Given the description of an element on the screen output the (x, y) to click on. 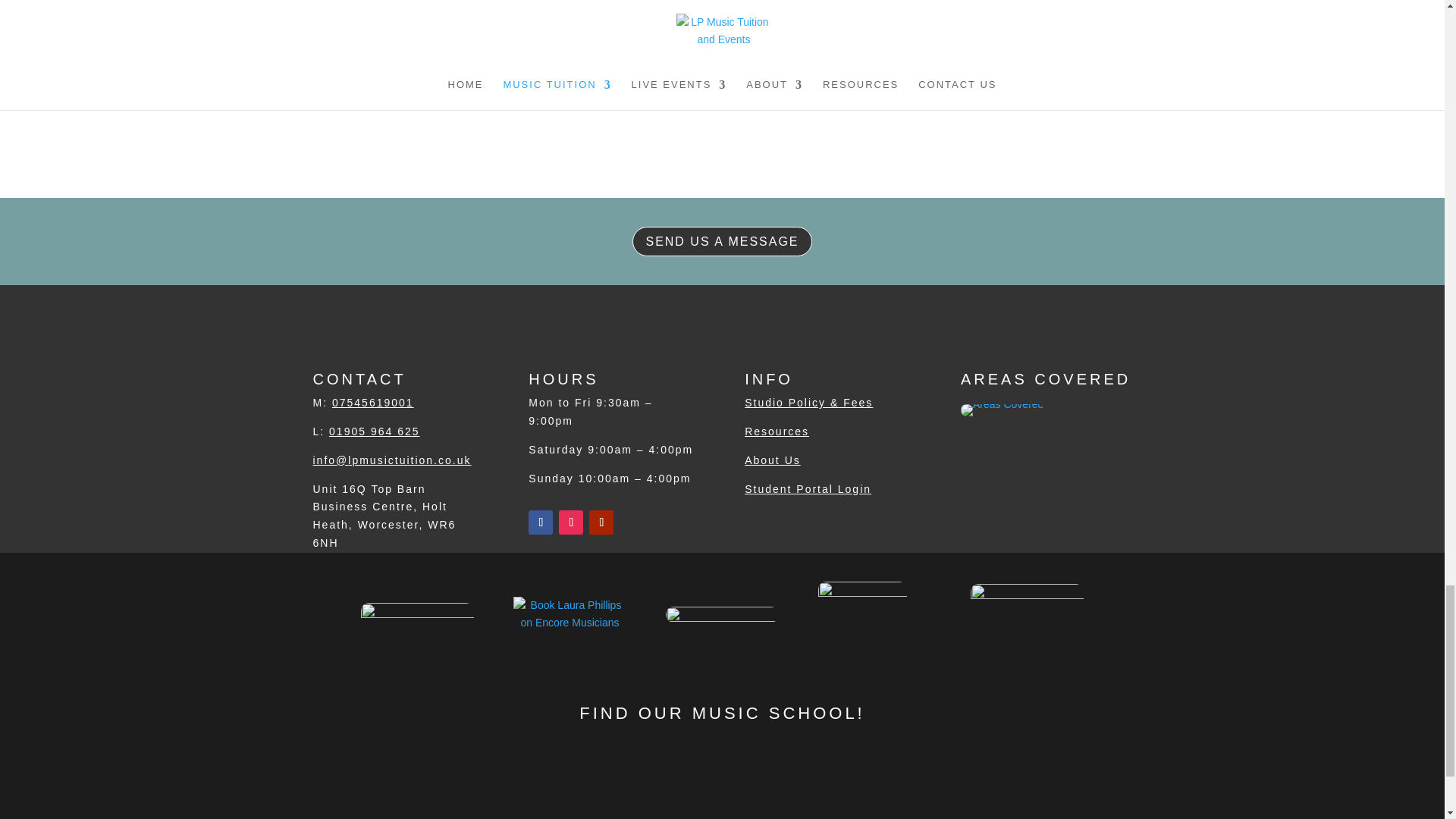
01905 964 625 (374, 431)
SEND US A MESSAGE (720, 241)
Follow on Youtube (600, 522)
Follow on Instagram (571, 522)
07545619001 (372, 402)
Areas Covered (1001, 412)
abrsm-red-logo-print (862, 614)
Follow on Facebook (540, 522)
Classical-Wte (721, 613)
music mark (1027, 614)
